Given the description of an element on the screen output the (x, y) to click on. 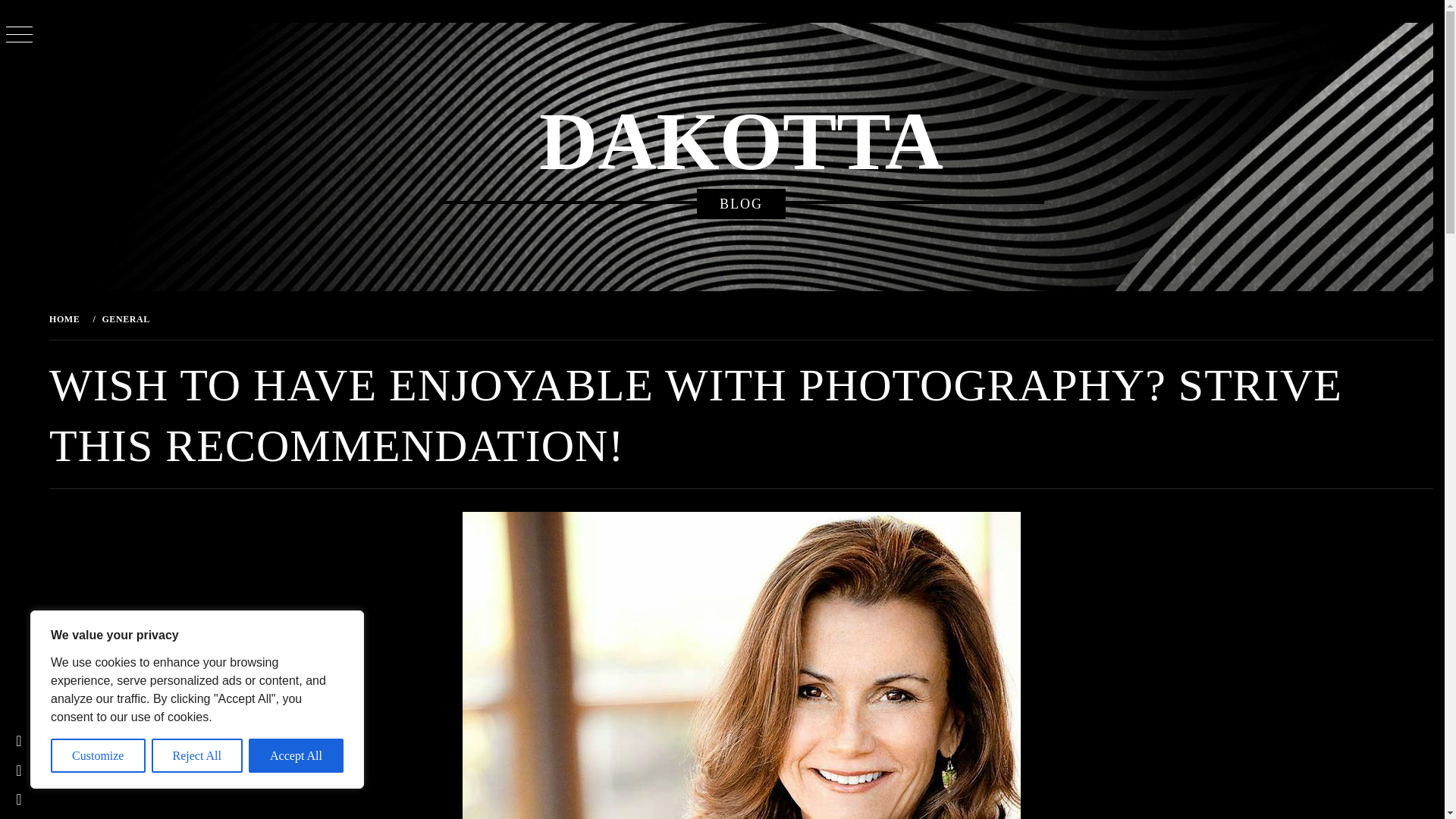
HOME (66, 318)
Customize (97, 755)
DAKOTTA (740, 141)
GENERAL (124, 318)
Accept All (295, 755)
Reject All (197, 755)
